Given the description of an element on the screen output the (x, y) to click on. 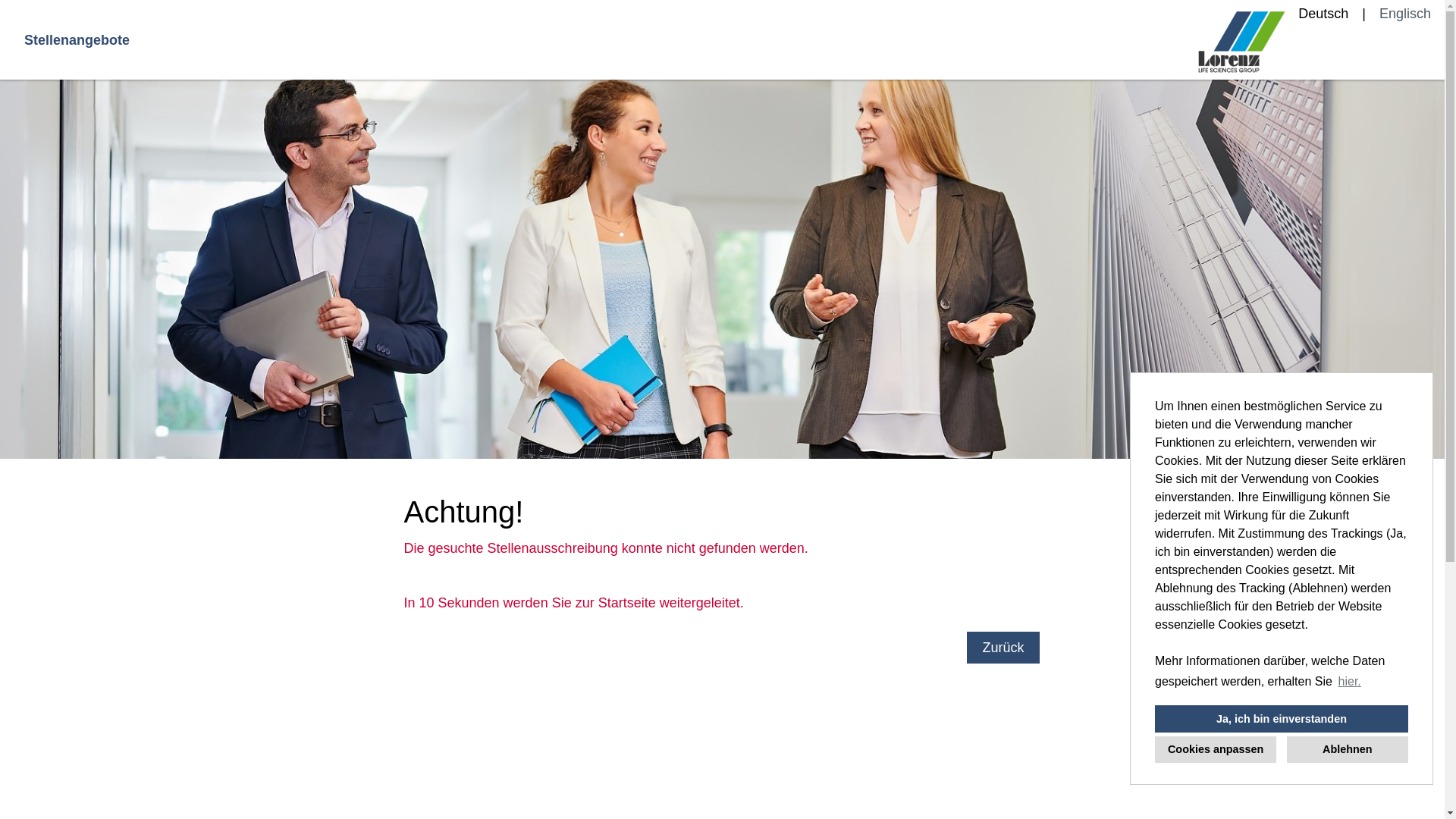
Stellenangebote Element type: text (76, 40)
hier. Element type: text (1349, 681)
Cookies anpassen Element type: text (1215, 748)
Englisch Element type: text (1404, 13)
Ablehnen Element type: text (1347, 748)
Ja, ich bin einverstanden Element type: text (1281, 718)
